Given the description of an element on the screen output the (x, y) to click on. 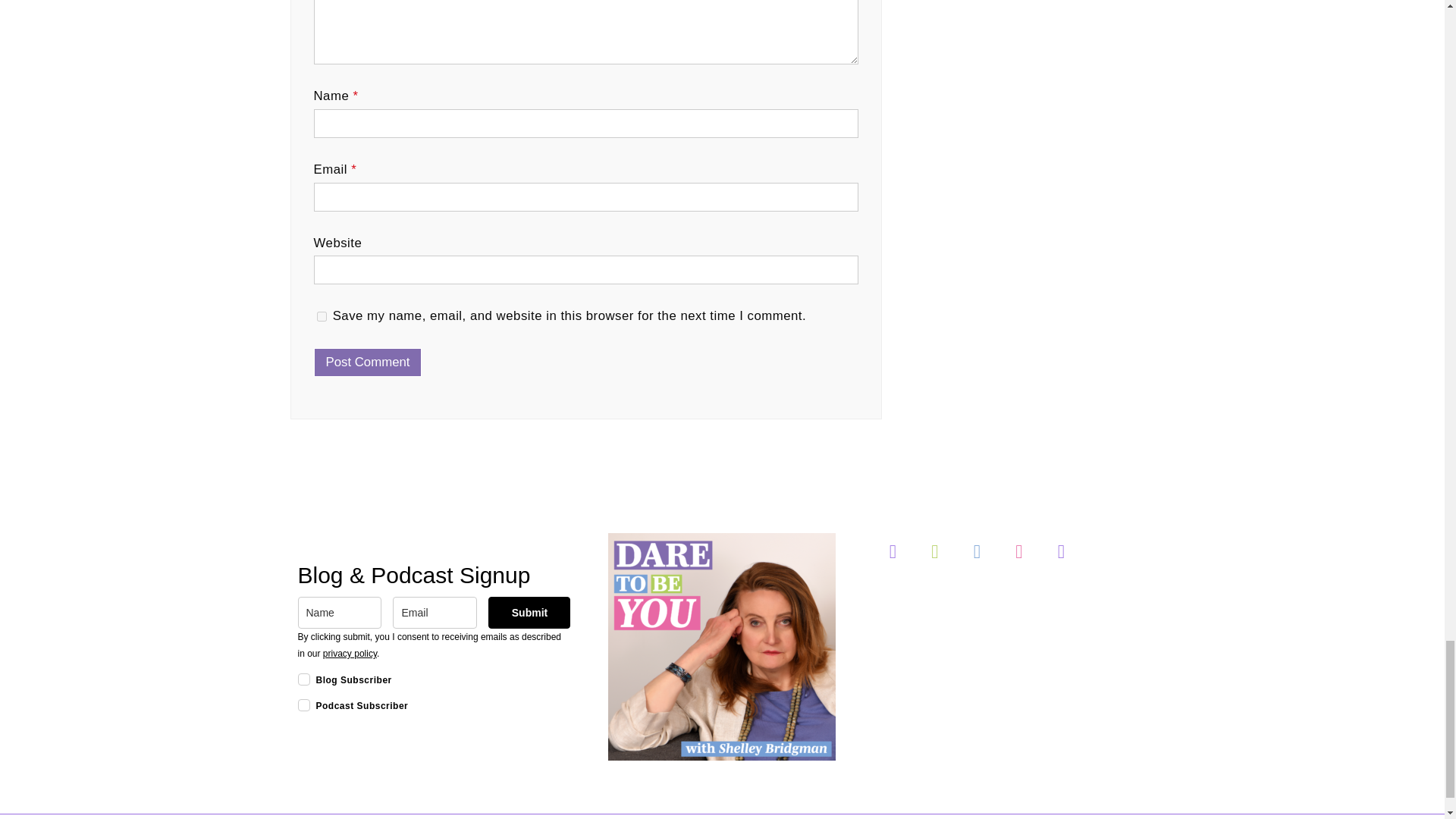
Post Comment (368, 362)
Submit (528, 612)
Post Comment (368, 362)
privacy policy (350, 653)
yes (321, 316)
